Given the description of an element on the screen output the (x, y) to click on. 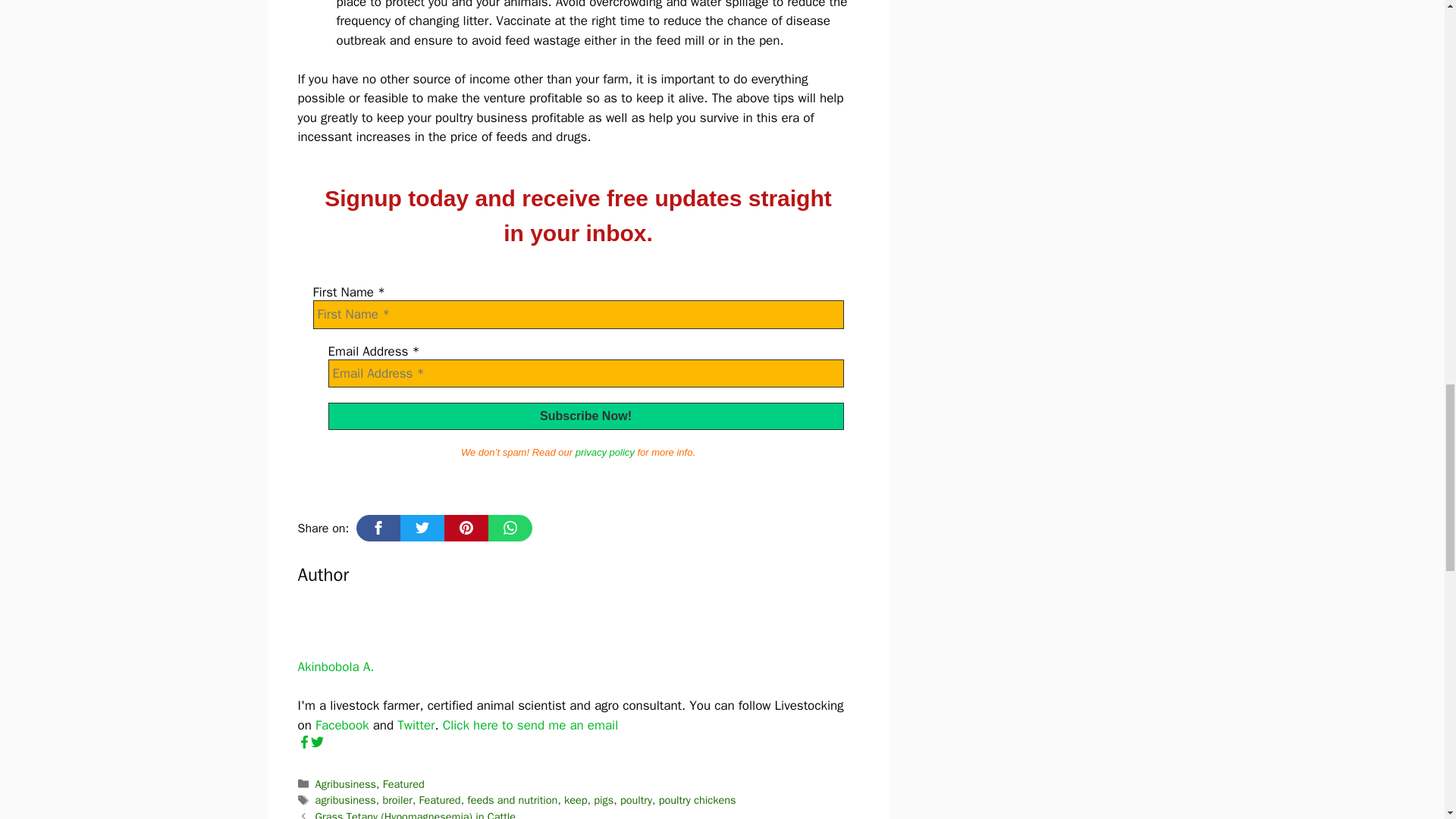
Subscribe Now! (585, 415)
Email Address (585, 373)
First Name (578, 314)
